Given the description of an element on the screen output the (x, y) to click on. 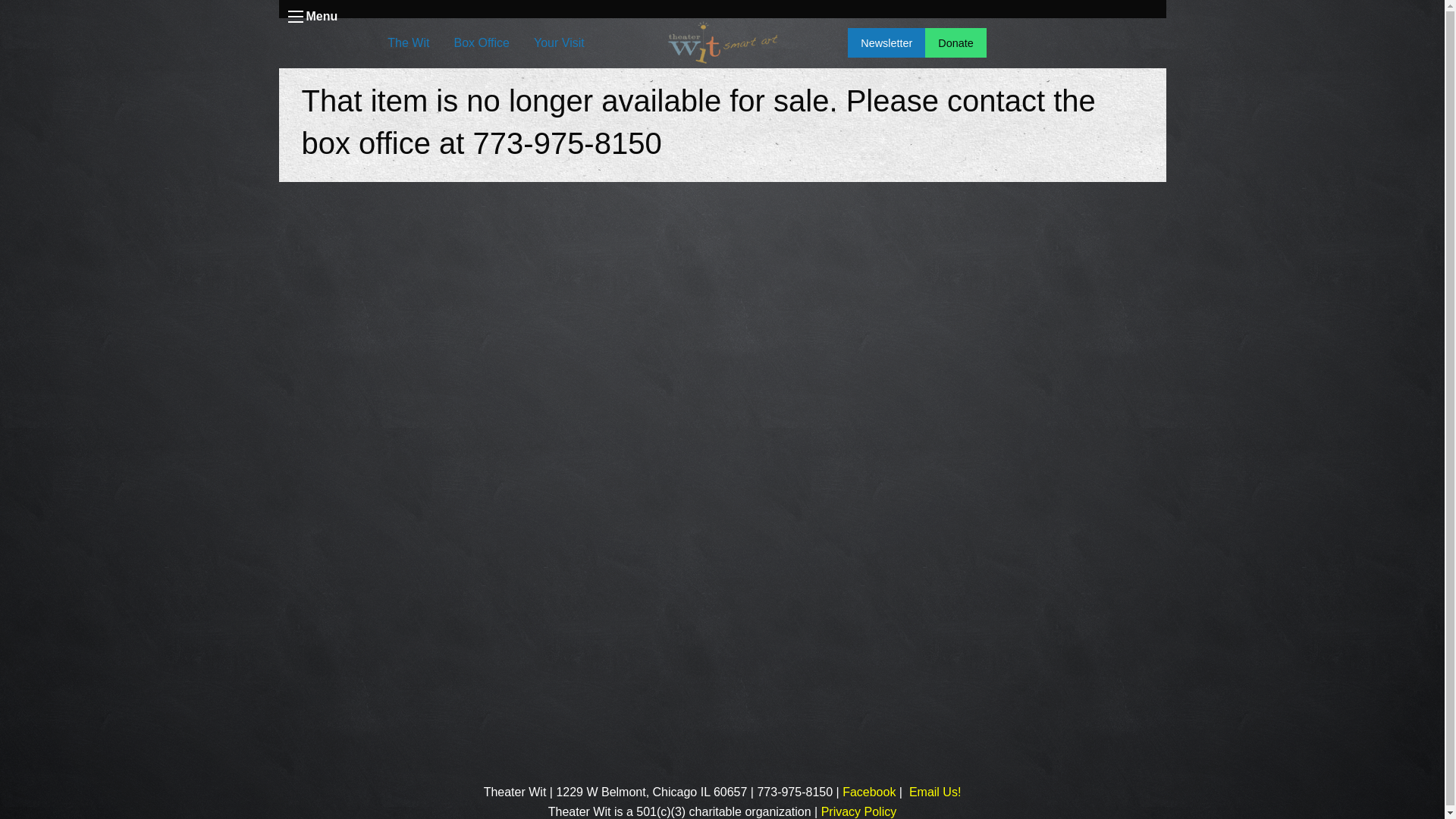
Newsletter (885, 42)
Privacy Policy (858, 811)
Donate (954, 42)
Email Us! (934, 791)
Theater Wit (869, 791)
The Wit (408, 42)
Box Office (481, 42)
Your Visit (558, 42)
Facebook (869, 791)
